Given the description of an element on the screen output the (x, y) to click on. 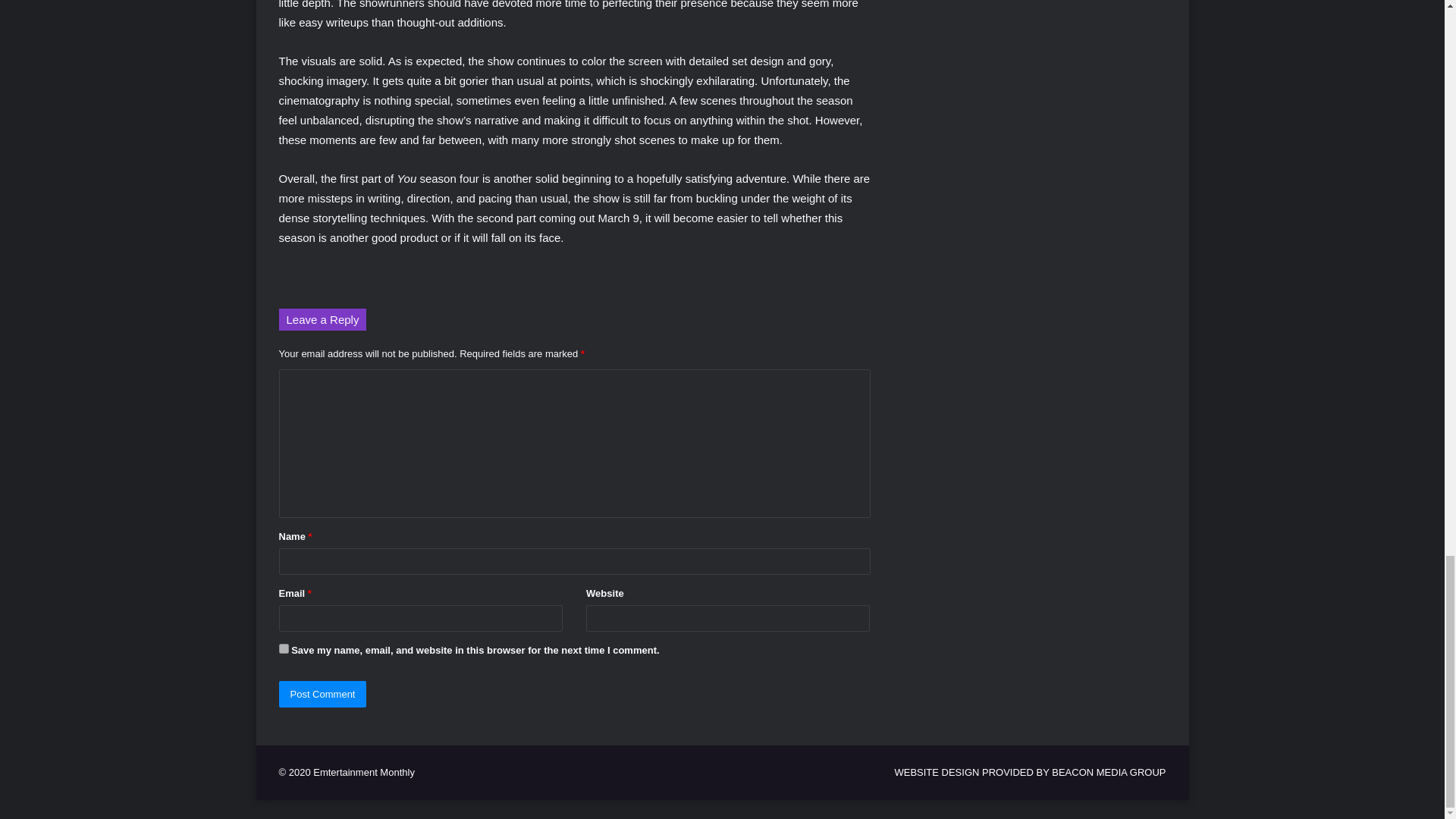
Post Comment (322, 693)
yes (283, 648)
Post Comment (322, 693)
